Given the description of an element on the screen output the (x, y) to click on. 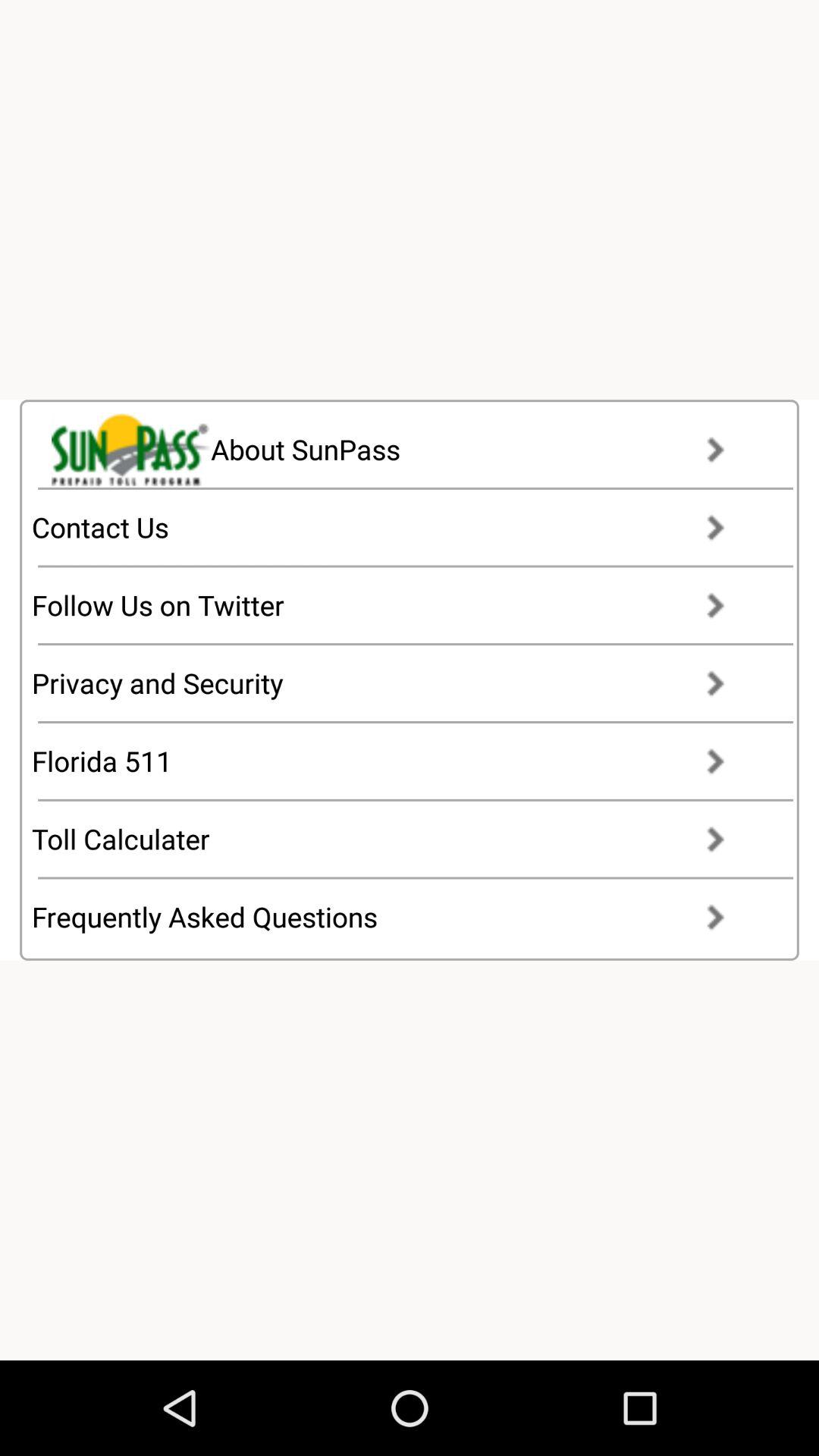
select follow us on (392, 605)
